Given the description of an element on the screen output the (x, y) to click on. 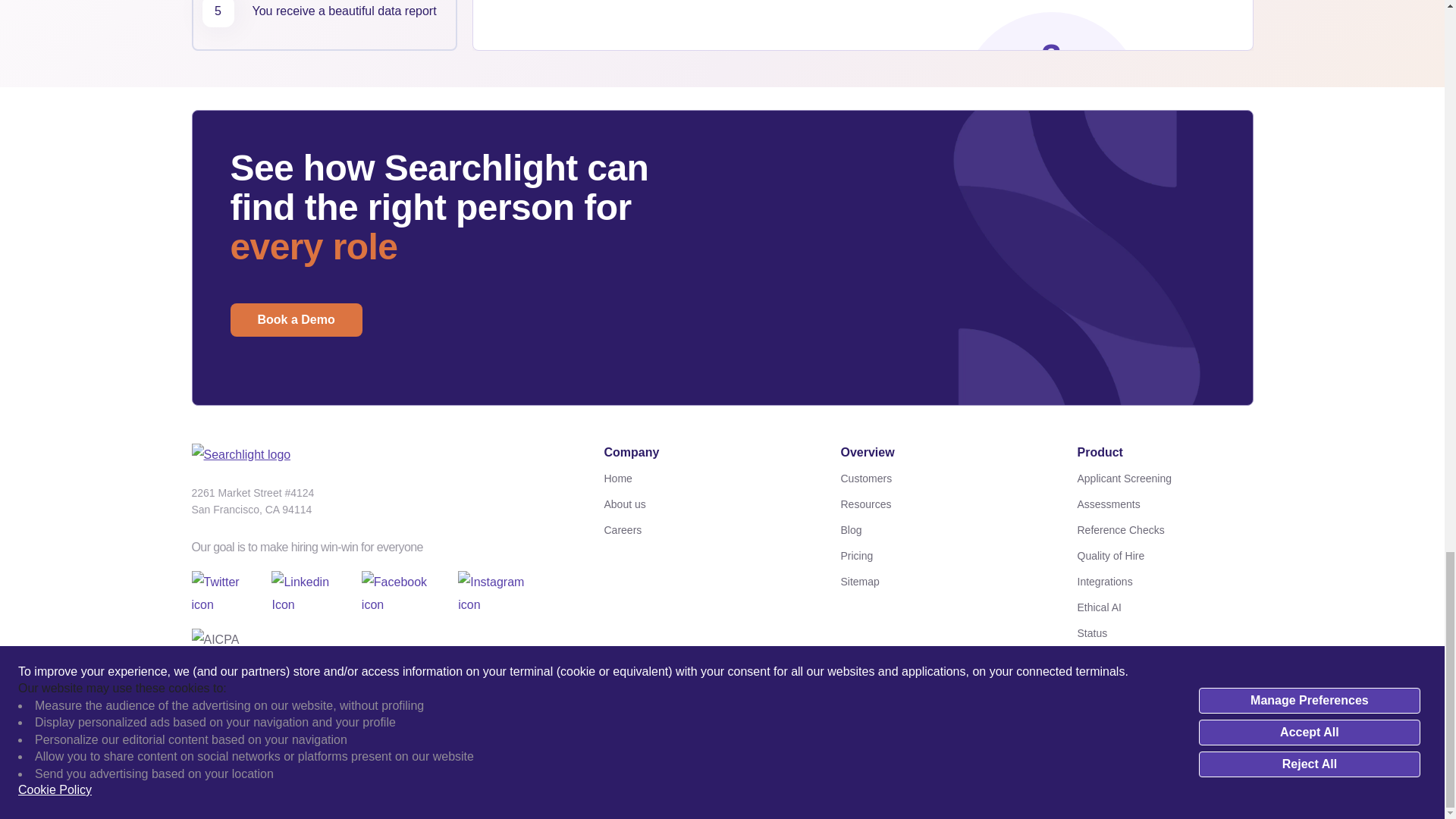
Customers (928, 478)
Book a Demo (296, 319)
Home (691, 478)
Resources (928, 504)
About us (691, 504)
Careers (691, 529)
Blog (928, 529)
Sitemap (928, 581)
Pricing (928, 556)
